Given the description of an element on the screen output the (x, y) to click on. 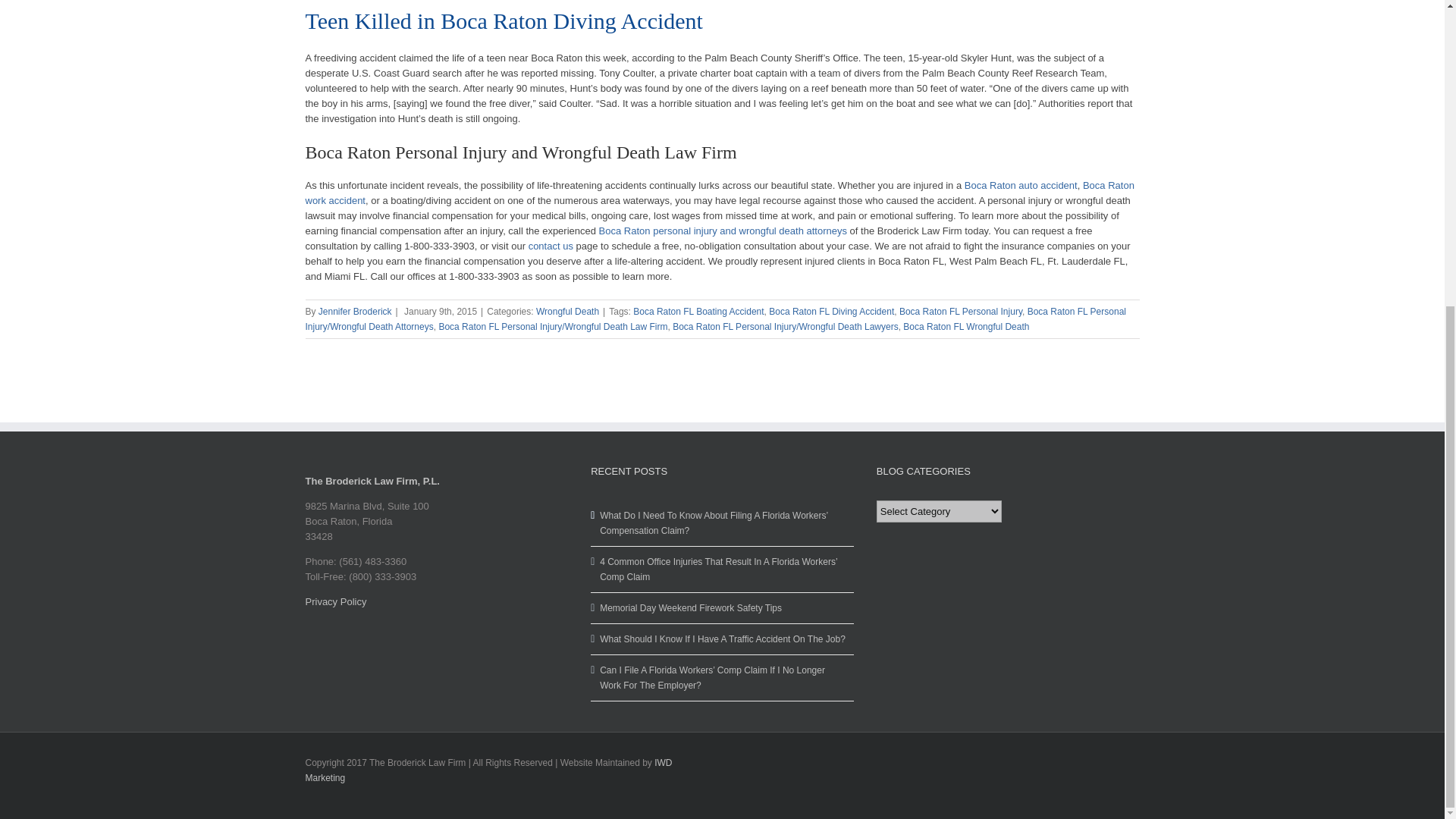
Jennifer Broderick (354, 311)
Boca Raton work accident (719, 192)
Boca Raton FL Boating Accident (697, 311)
Wrongful Death (566, 311)
Posts by Jennifer Broderick (354, 311)
Boca Raton personal injury and wrongful death attorneys (722, 230)
Boca Raton FL Diving Accident (830, 311)
Boca Raton FL Personal Injury (960, 311)
Boca Raton auto accident (1020, 184)
contact us (550, 245)
